Given the description of an element on the screen output the (x, y) to click on. 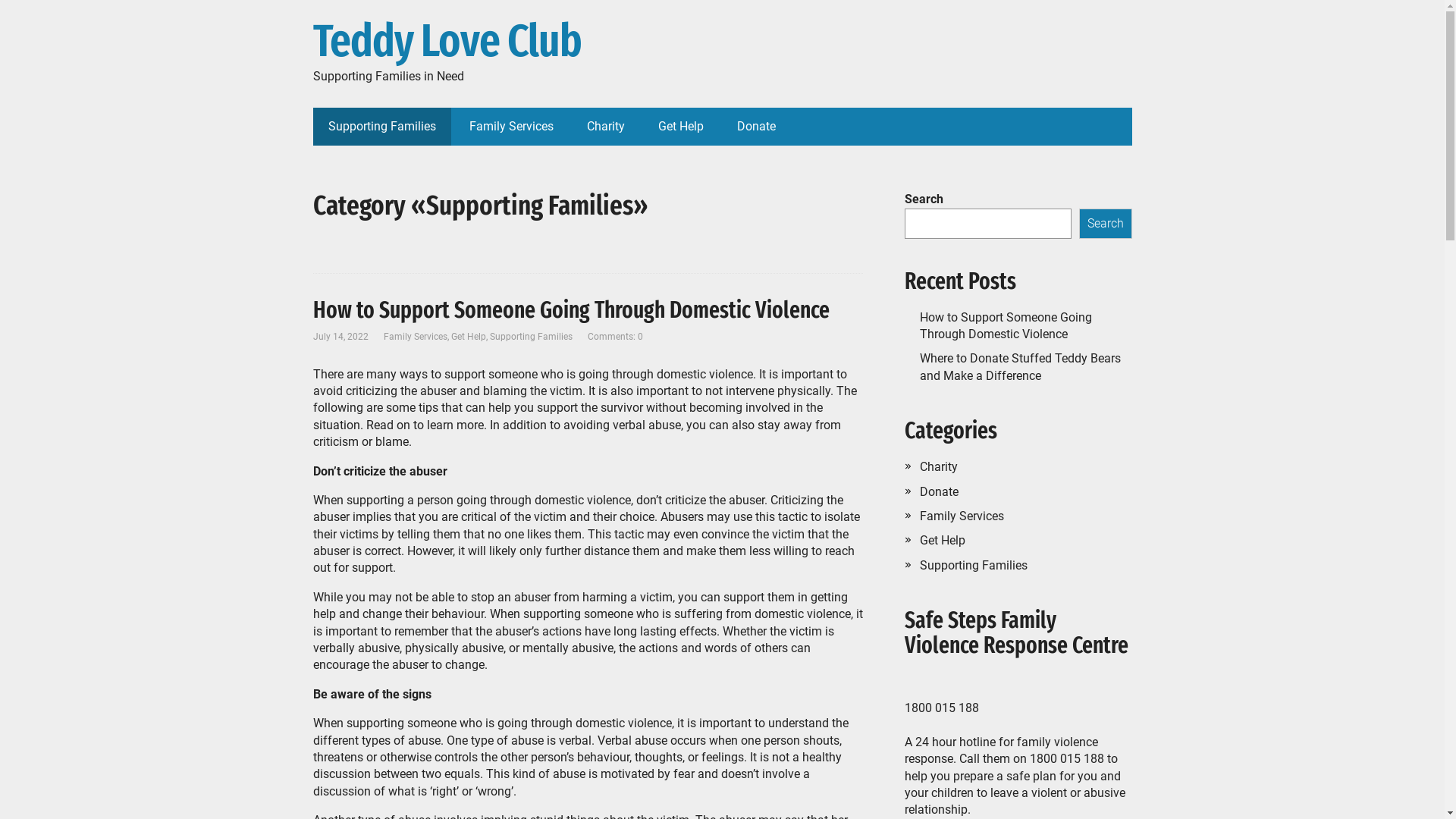
Supporting Families Element type: text (530, 336)
Charity Element type: text (605, 126)
Get Help Element type: text (941, 540)
Donate Element type: text (938, 491)
Where to Donate Stuffed Teddy Bears and Make a Difference Element type: text (1019, 366)
Family Services Element type: text (510, 126)
How to Support Someone Going Through Domestic Violence Element type: text (1005, 325)
1800 015 188 Element type: text (940, 707)
Donate Element type: text (755, 126)
Charity Element type: text (938, 466)
Teddy Love Club Element type: text (721, 41)
Family Services Element type: text (961, 515)
1800 015 188 Element type: text (1066, 758)
Get Help Element type: text (680, 126)
Search Element type: text (1104, 223)
Comments: 0 Element type: text (614, 336)
Supporting Families Element type: text (381, 126)
Family Services Element type: text (415, 336)
Get Help Element type: text (467, 336)
Supporting Families Element type: text (972, 565)
How to Support Someone Going Through Domestic Violence Element type: text (570, 309)
